Given the description of an element on the screen output the (x, y) to click on. 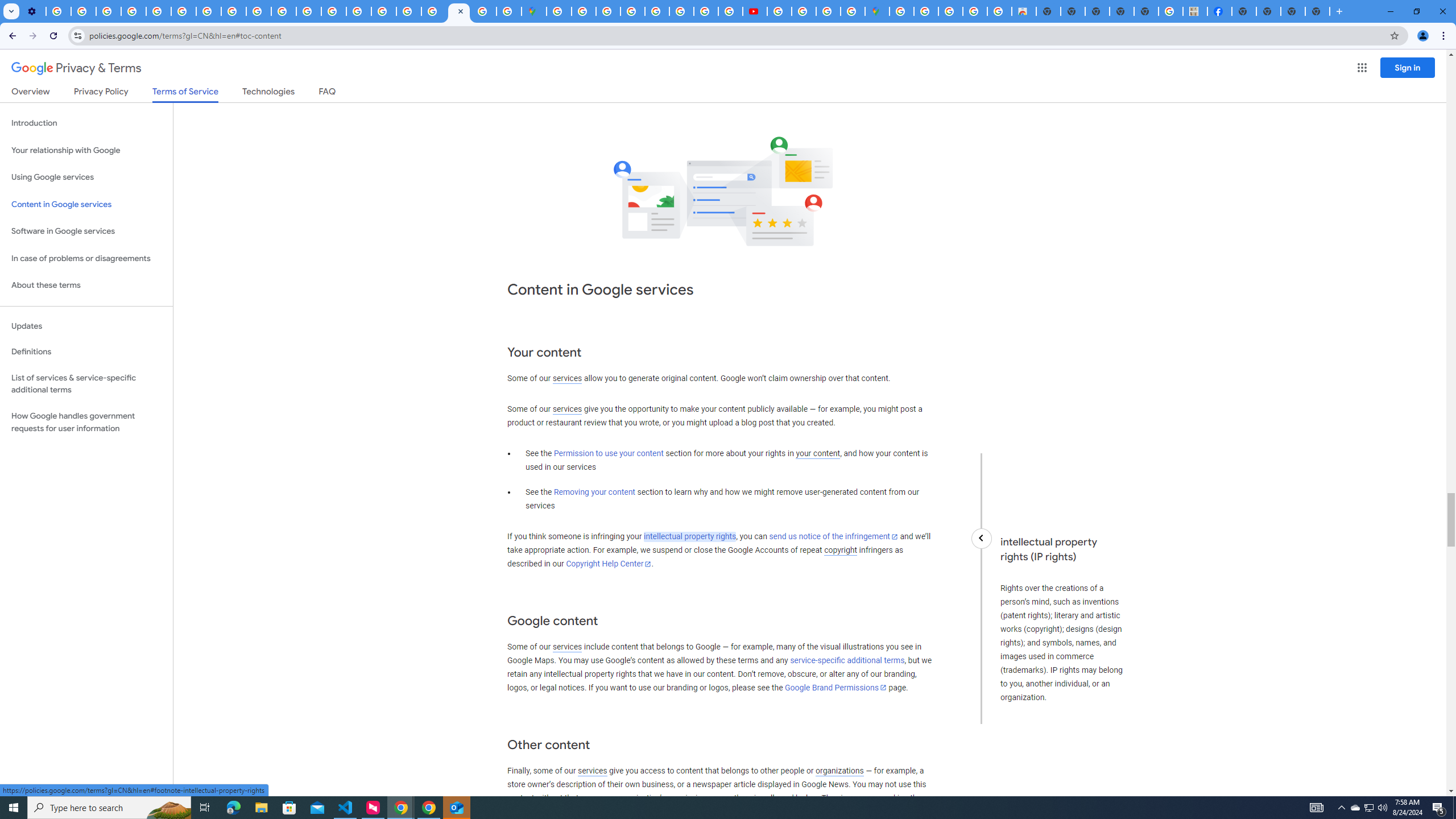
Definitions (86, 352)
Privacy Help Center - Policies Help (680, 11)
send us notice of the infringement (833, 536)
Your relationship with Google (86, 150)
service-specific additional terms (847, 660)
organizations (839, 770)
services (591, 770)
